Given the description of an element on the screen output the (x, y) to click on. 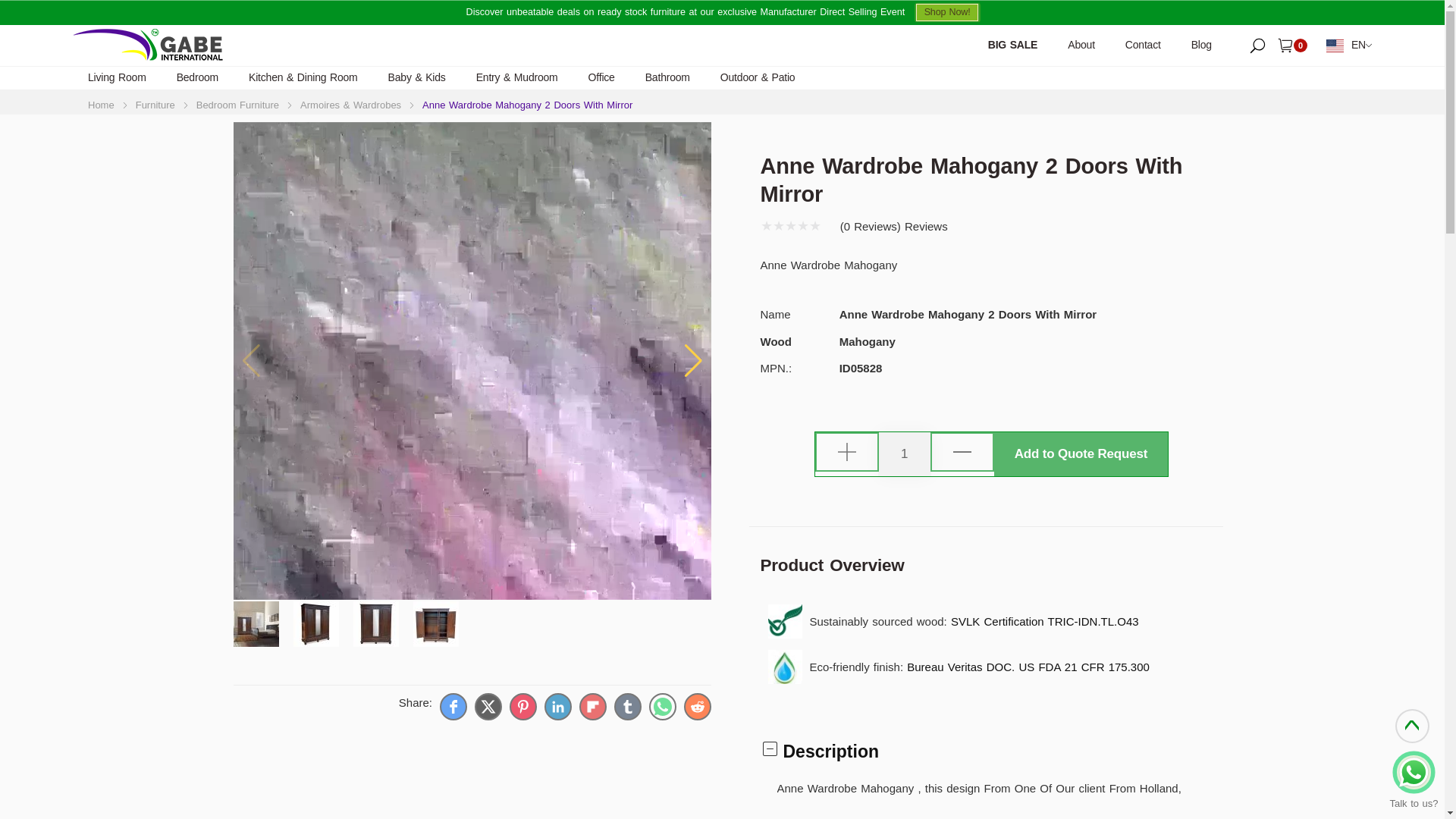
en (1346, 45)
1 (904, 454)
Find furniture (1257, 44)
